Given the description of an element on the screen output the (x, y) to click on. 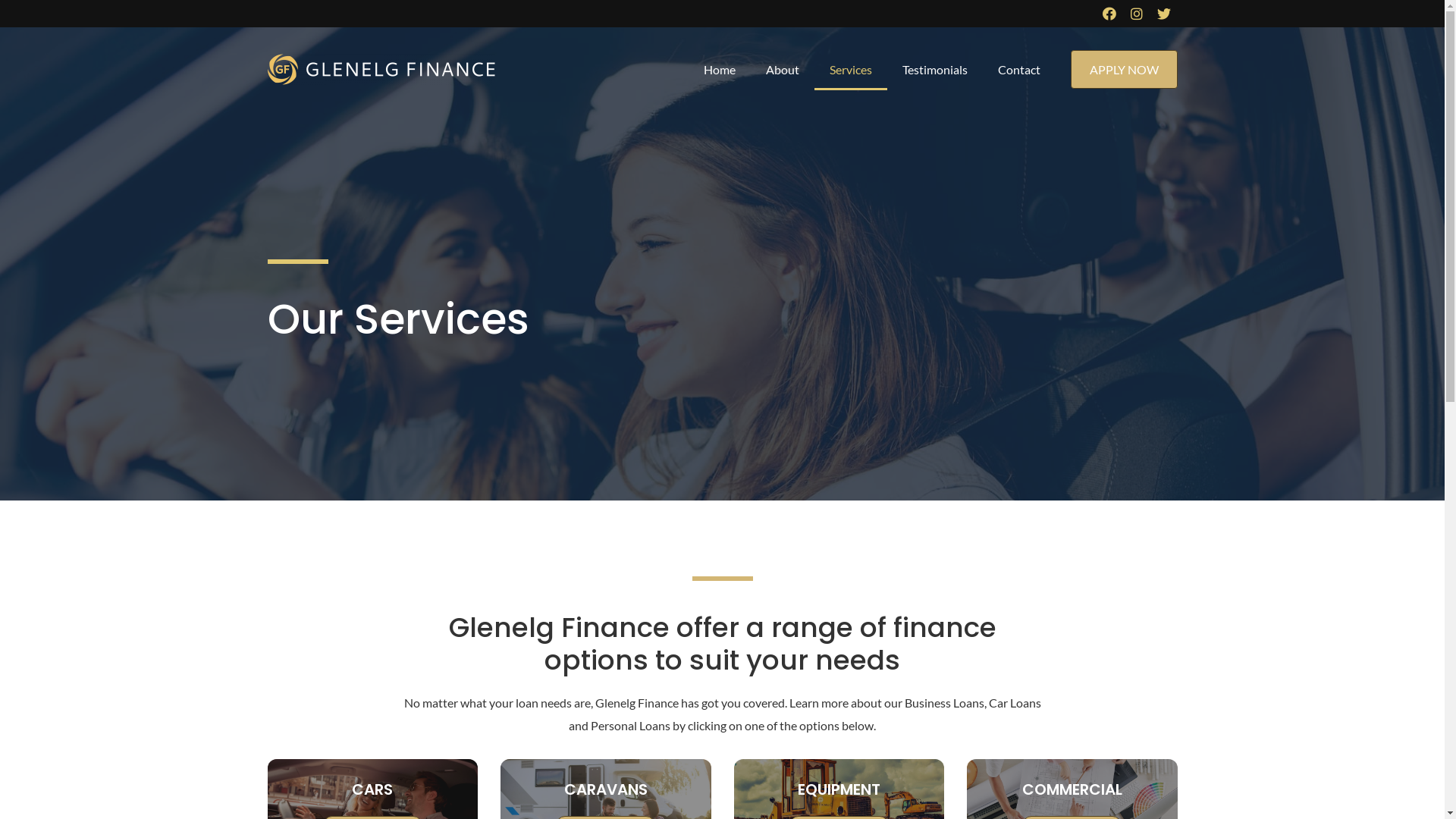
About Element type: text (782, 69)
Services Element type: text (850, 69)
Contact Element type: text (1018, 69)
Testimonials Element type: text (934, 69)
Home Element type: text (719, 69)
APPLY NOW Element type: text (1123, 69)
